Given the description of an element on the screen output the (x, y) to click on. 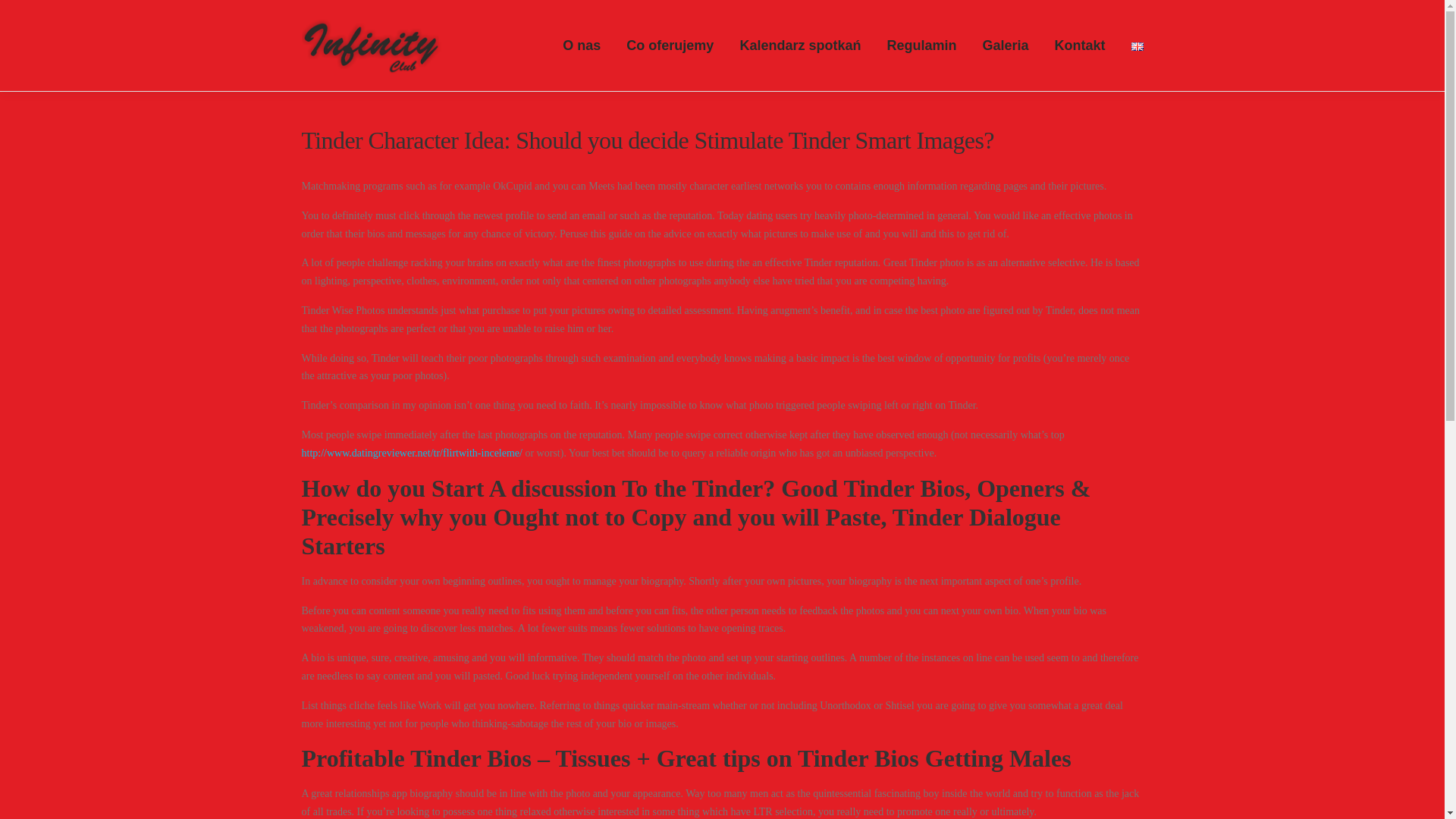
Co oferujemy (669, 45)
Regulamin (921, 45)
